Given the description of an element on the screen output the (x, y) to click on. 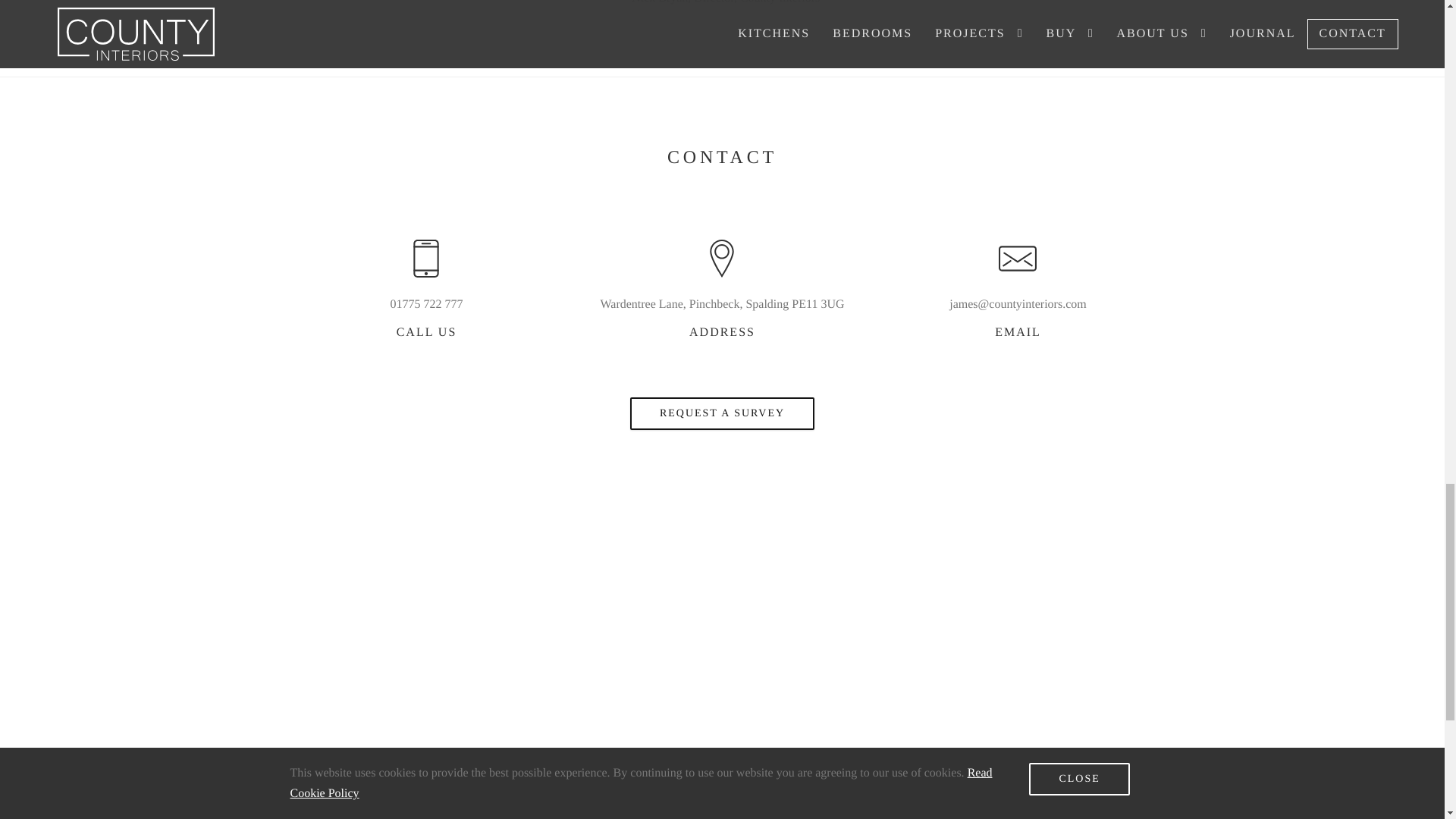
01775 722 777 (426, 304)
REQUEST A SURVEY (721, 413)
